Given the description of an element on the screen output the (x, y) to click on. 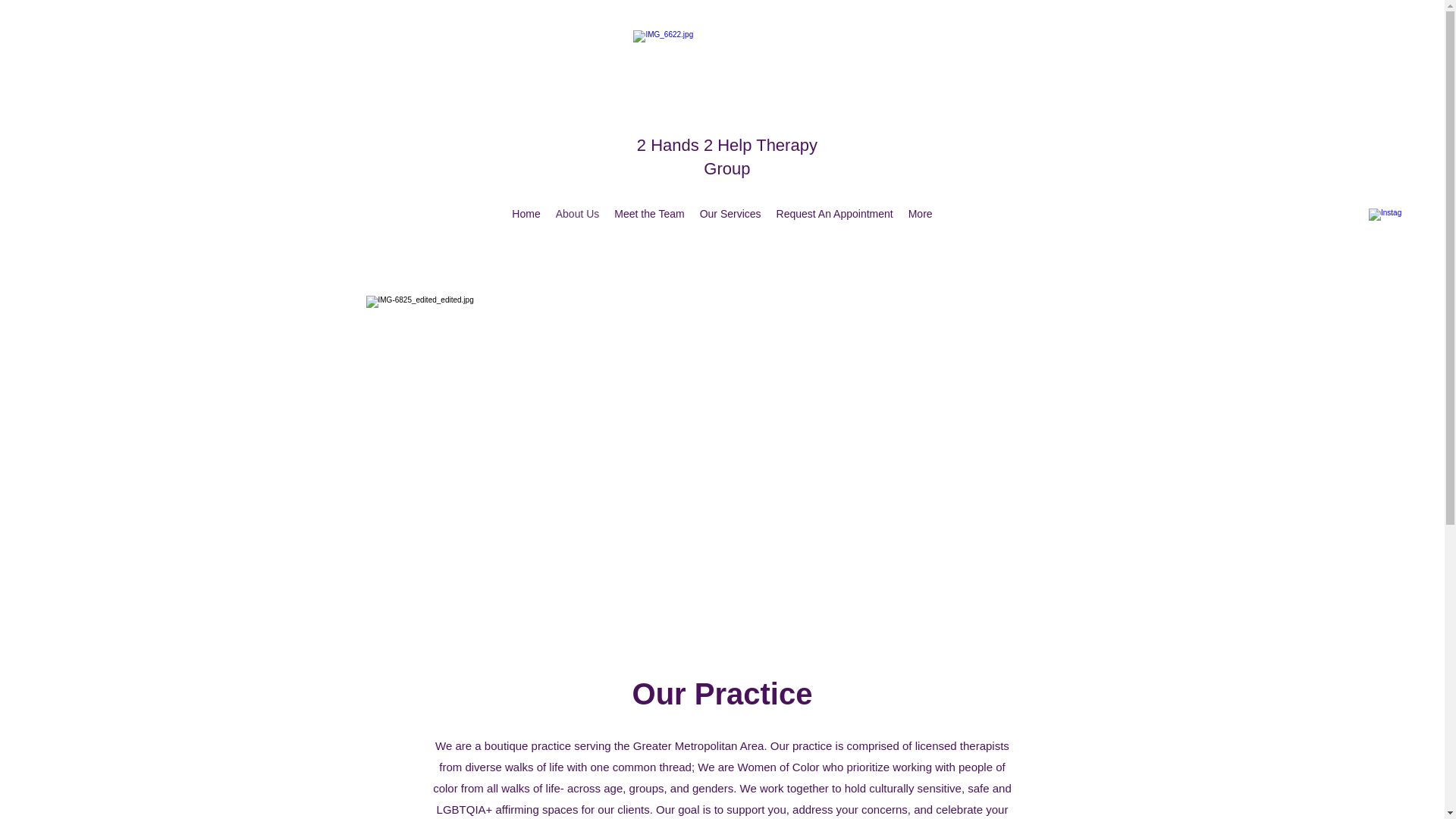
2 Hands 2 Help Therapy Group Element type: text (727, 156)
Home Element type: text (525, 215)
Meet the Team Element type: text (648, 215)
Request An Appointment Element type: text (834, 215)
About Us Element type: text (577, 215)
Our Services Element type: text (730, 215)
